Given the description of an element on the screen output the (x, y) to click on. 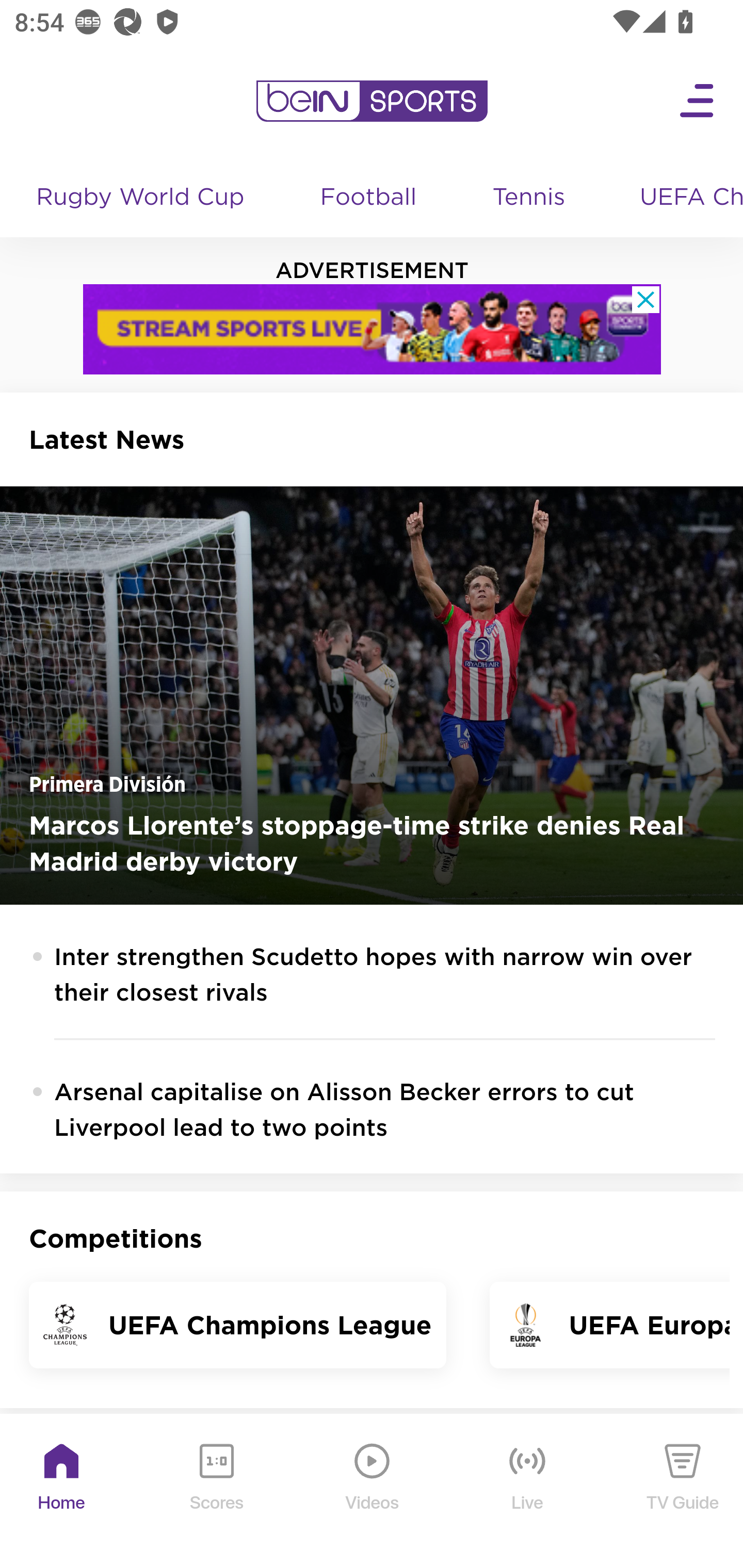
en-my?platform=mobile_android bein logo (371, 101)
Open Menu Icon (697, 101)
Rugby World Cup (142, 198)
Football (369, 198)
Tennis (530, 198)
UEFA Champions League (683, 198)
l8psv8uu (372, 328)
Home Home Icon Home (61, 1491)
Scores Scores Icon Scores (216, 1491)
Videos Videos Icon Videos (372, 1491)
TV Guide TV Guide Icon TV Guide (682, 1491)
